Given the description of an element on the screen output the (x, y) to click on. 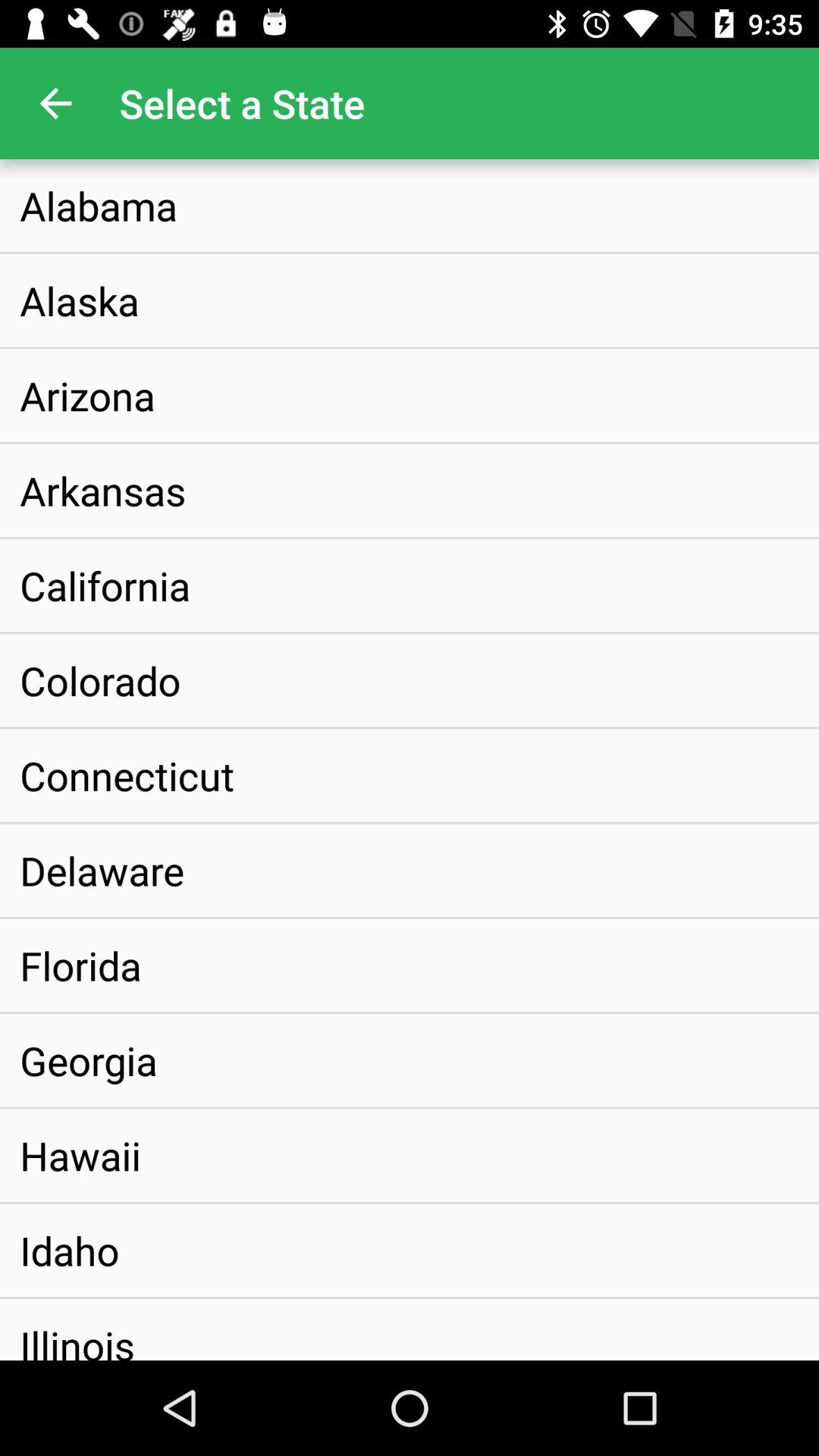
jump until the florida item (80, 965)
